Given the description of an element on the screen output the (x, y) to click on. 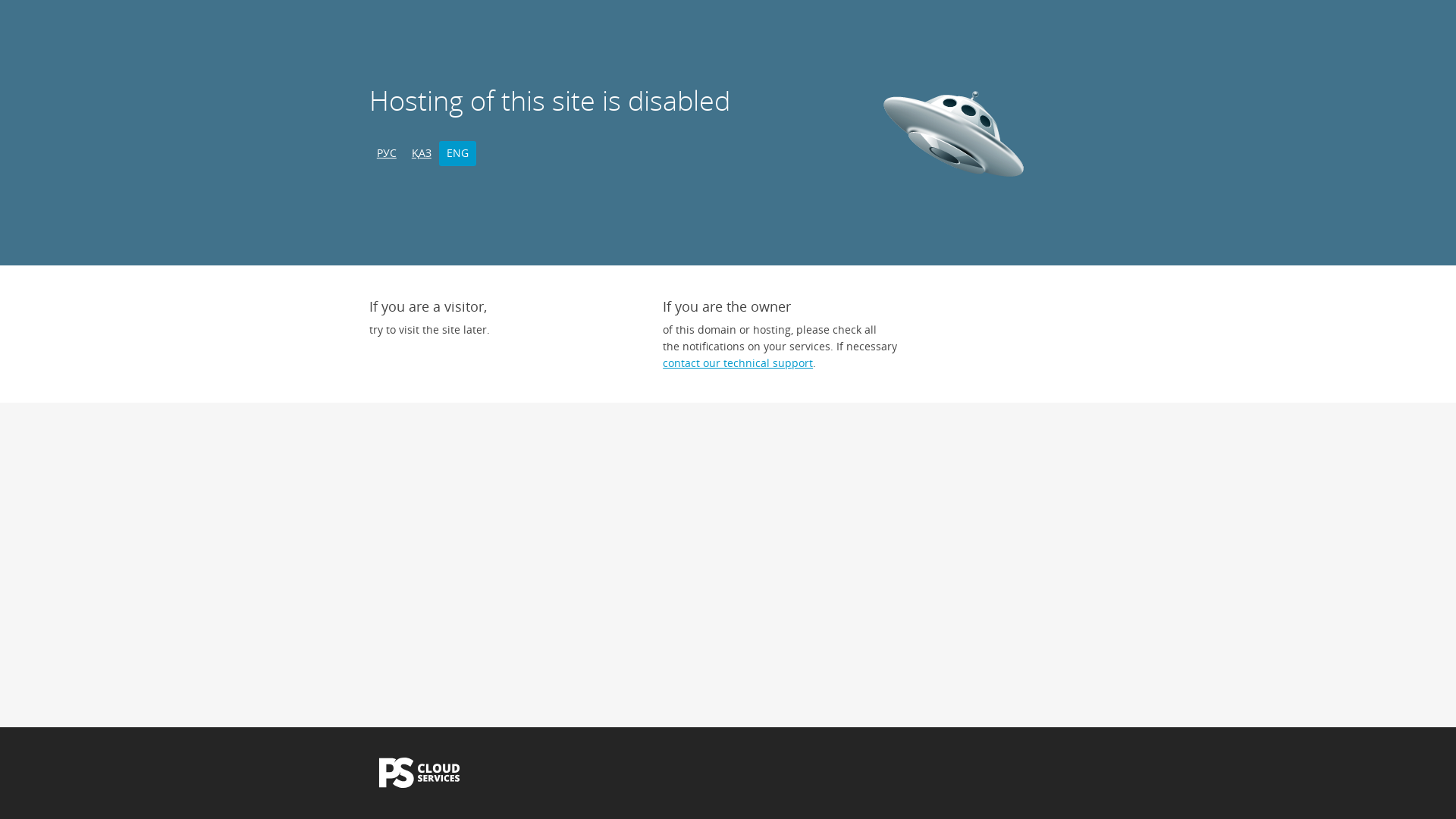
contact our technical support Element type: text (737, 362)
ENG Element type: text (457, 153)
